Given the description of an element on the screen output the (x, y) to click on. 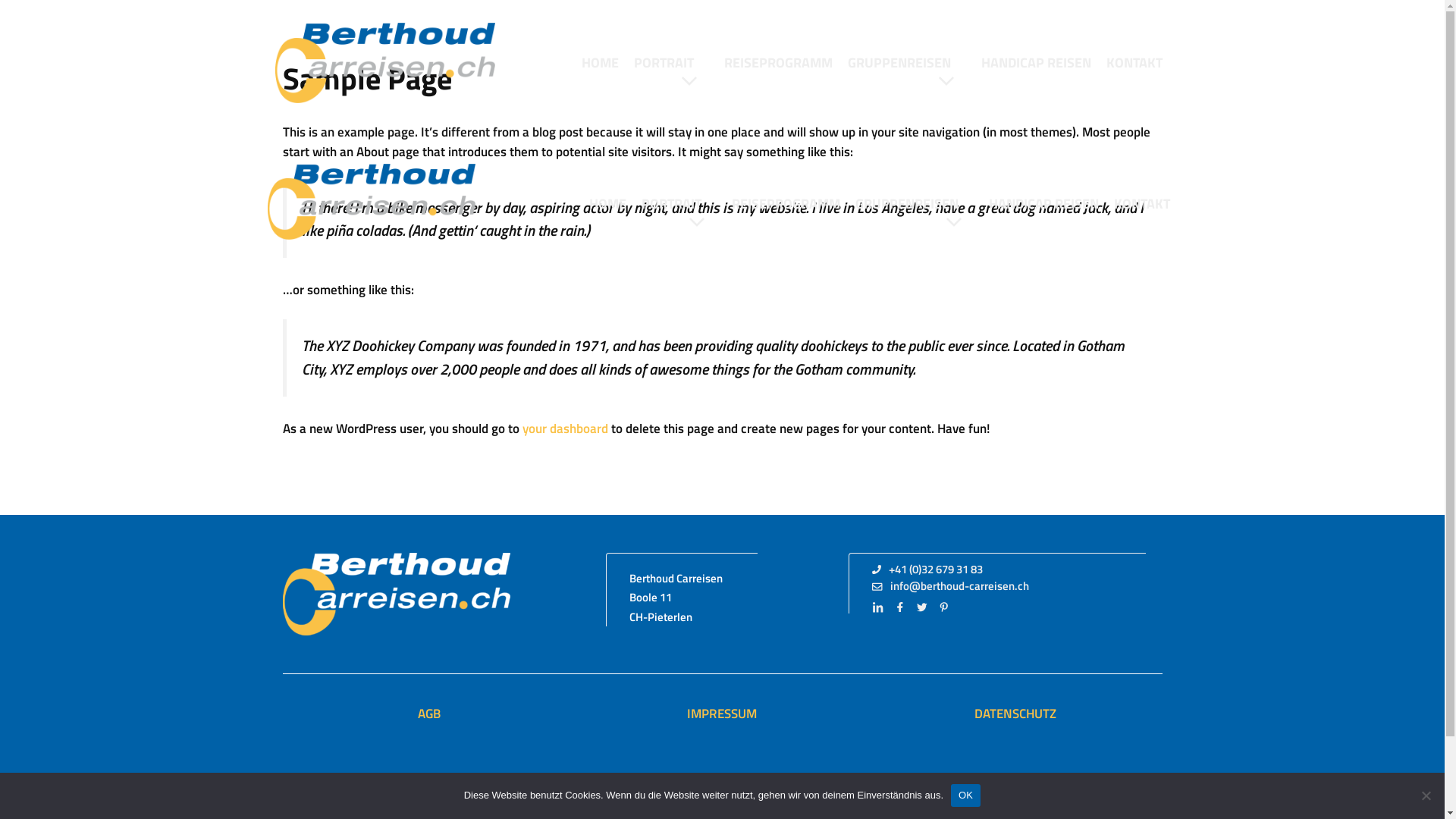
info@berthoud-carreisen.ch Element type: text (950, 586)
KONTAKT Element type: text (1140, 203)
PORTRAIT Element type: text (671, 62)
Nein Element type: hover (1425, 795)
DATENSCHUTZ Element type: text (1015, 713)
PORTRAIT Element type: text (678, 203)
Berthoud Carreisen Element type: hover (384, 62)
AGB Element type: text (428, 713)
OK Element type: text (965, 795)
HOME Element type: text (599, 62)
REISEPROGRAMM Element type: text (777, 62)
GRUPPENREISEN Element type: text (914, 203)
REISEPROGRAMM Element type: text (785, 203)
Berthoud Carreisen Element type: hover (370, 203)
KONTAKT Element type: text (1133, 62)
HANDICAP REISEN Element type: text (1035, 62)
Berthoud Carreisen Element type: hover (384, 61)
IMPRESSUM Element type: text (721, 713)
GRUPPENREISEN Element type: text (906, 62)
+41 (0)32 679 31 83 Element type: text (927, 569)
HANDICAP REISEN Element type: text (1043, 203)
your dashboard Element type: text (564, 428)
HOME Element type: text (606, 203)
